Given the description of an element on the screen output the (x, y) to click on. 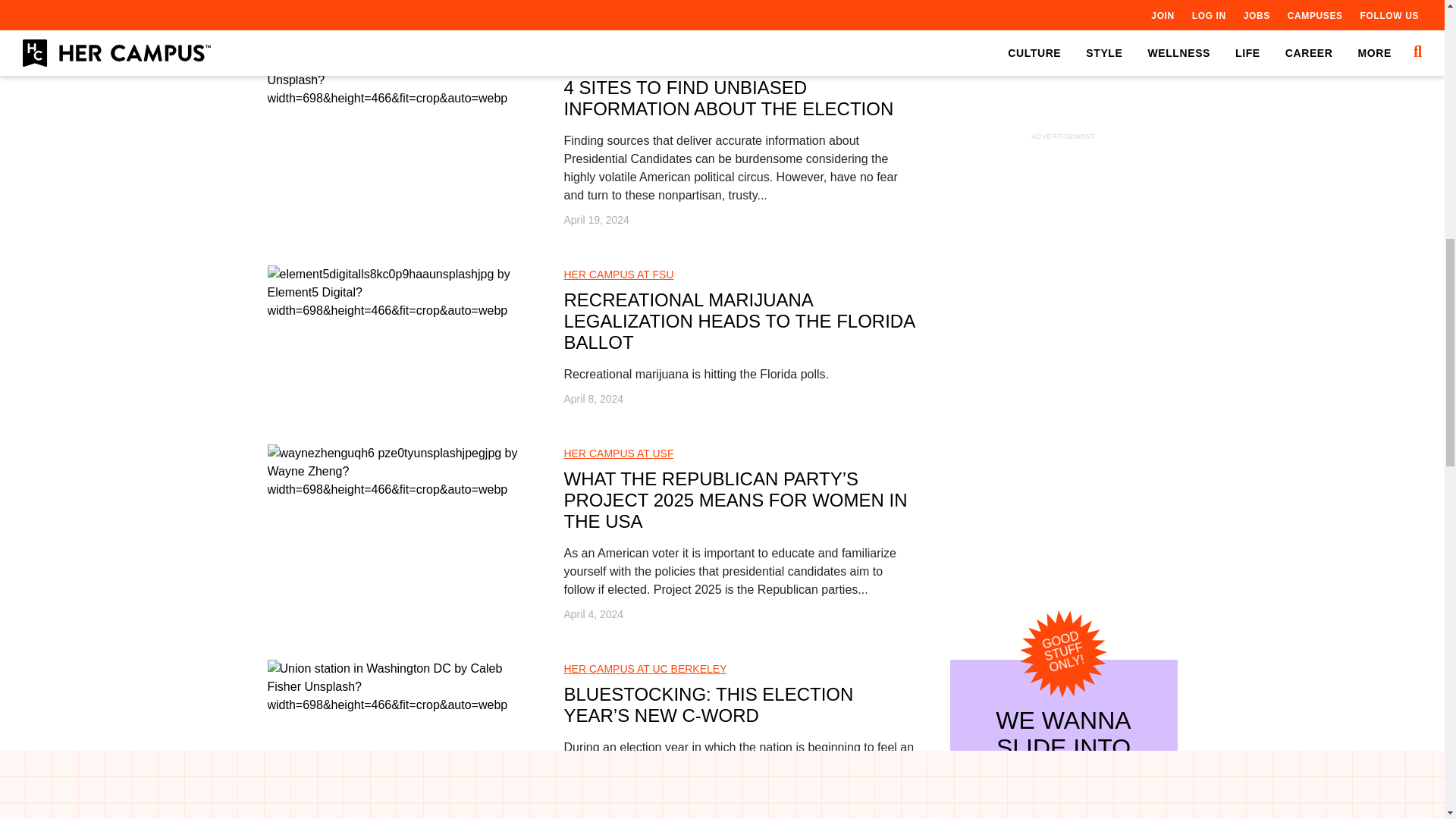
BLUESTOCKING: THIS ELECTION YEAR'S NEW C-WORD 7 (397, 687)
Why 'Veep' should be everyone's election year binge 3 (397, 8)
4 Sites to Find Unbiased Information About the Election 4 (397, 80)
